Given the description of an element on the screen output the (x, y) to click on. 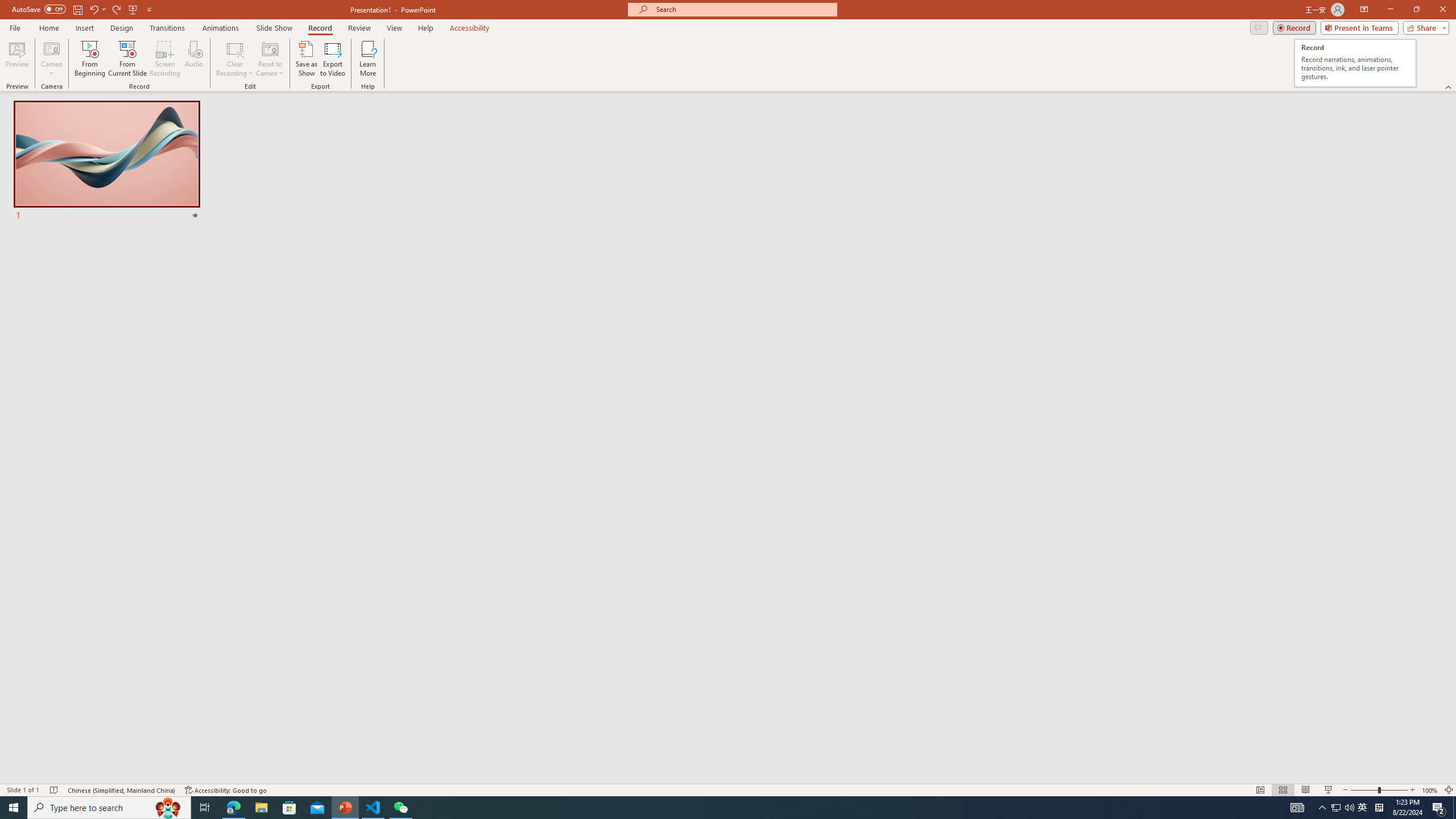
Screen Recording (165, 58)
From Beginning... (89, 58)
Reset to Cameo (269, 58)
